Given the description of an element on the screen output the (x, y) to click on. 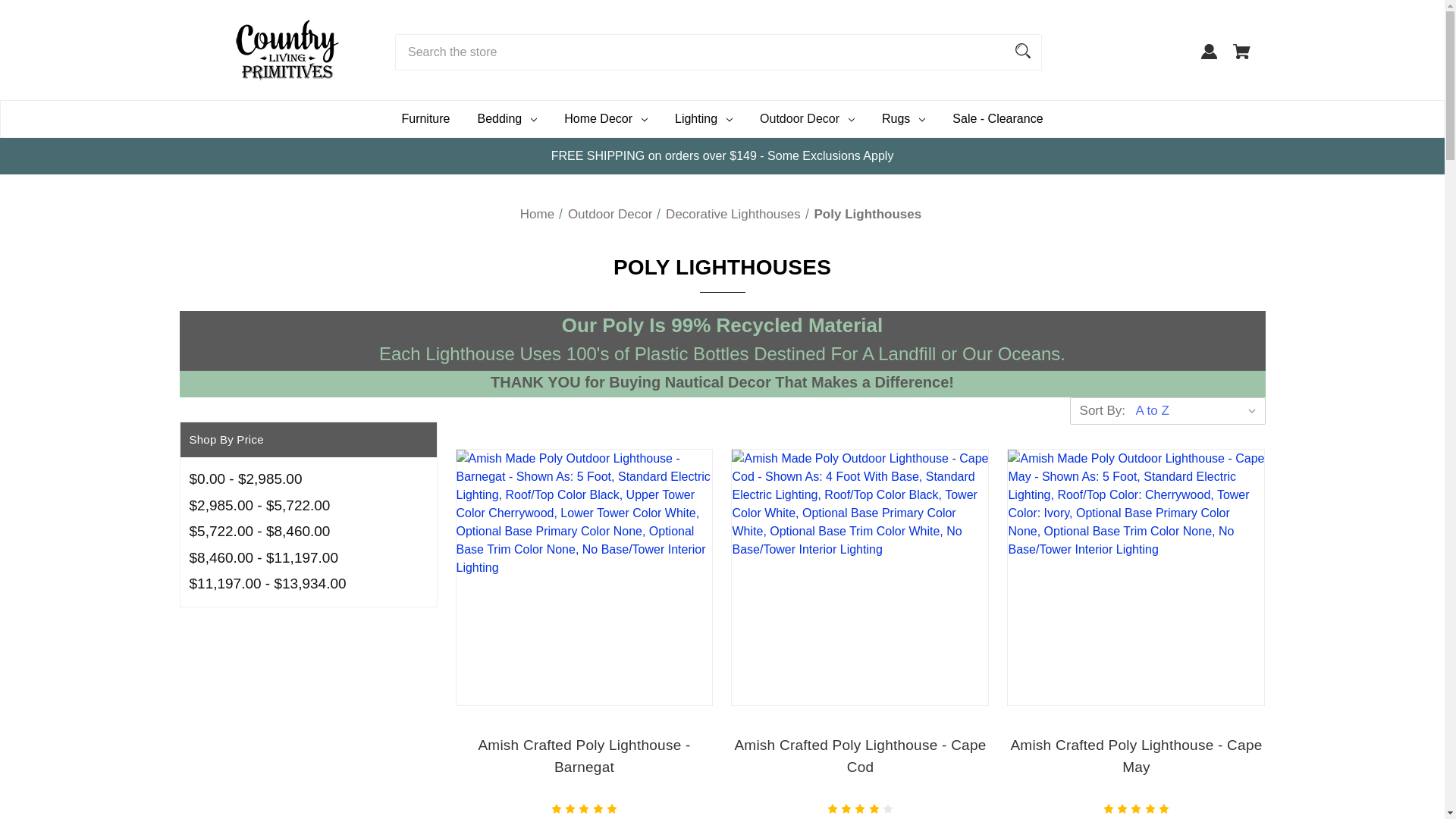
CountryLivingPrimitives.com (286, 49)
Magnifying glass image Large red circle with a black border (1023, 50)
Furniture (425, 118)
Home Decor (605, 118)
Magnifying glass image Large red circle with a black border (1022, 50)
Bedding (506, 118)
